Given the description of an element on the screen output the (x, y) to click on. 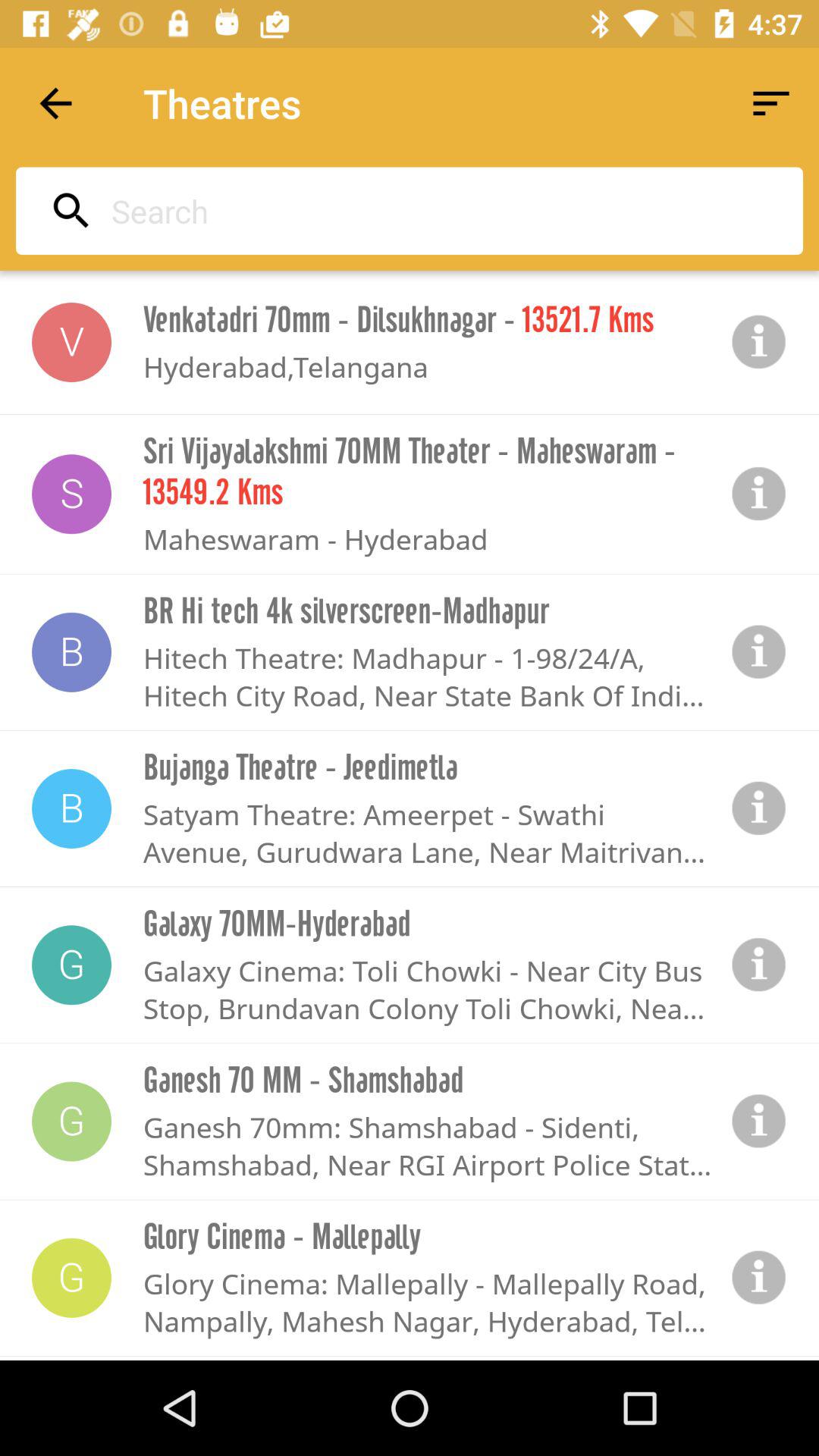
search bar (405, 210)
